Given the description of an element on the screen output the (x, y) to click on. 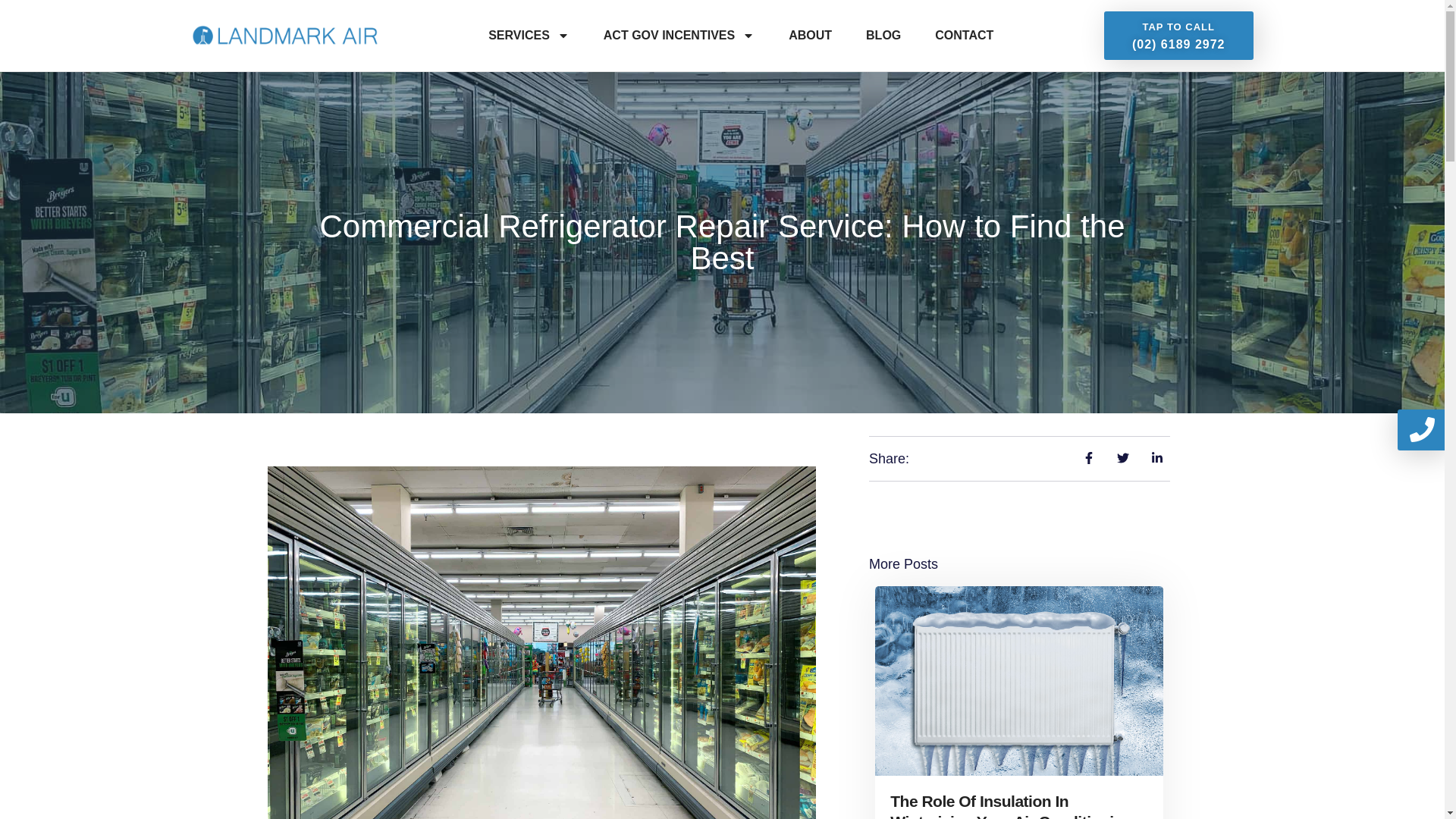
BLOG (883, 35)
SERVICES (528, 35)
ACT GOV INCENTIVES (678, 35)
ABOUT (810, 35)
CONTACT (963, 35)
